Given the description of an element on the screen output the (x, y) to click on. 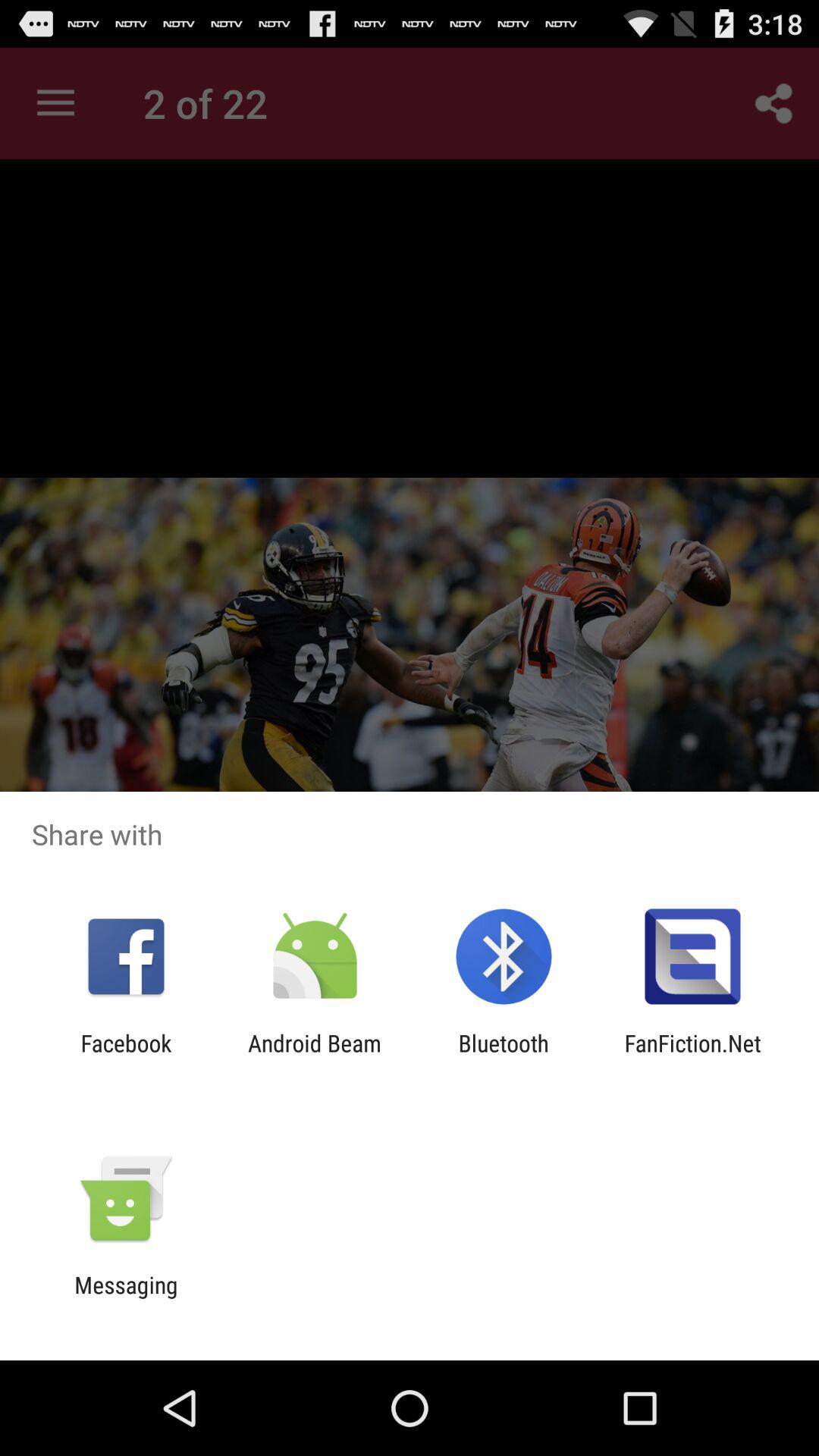
swipe to messaging app (126, 1298)
